Given the description of an element on the screen output the (x, y) to click on. 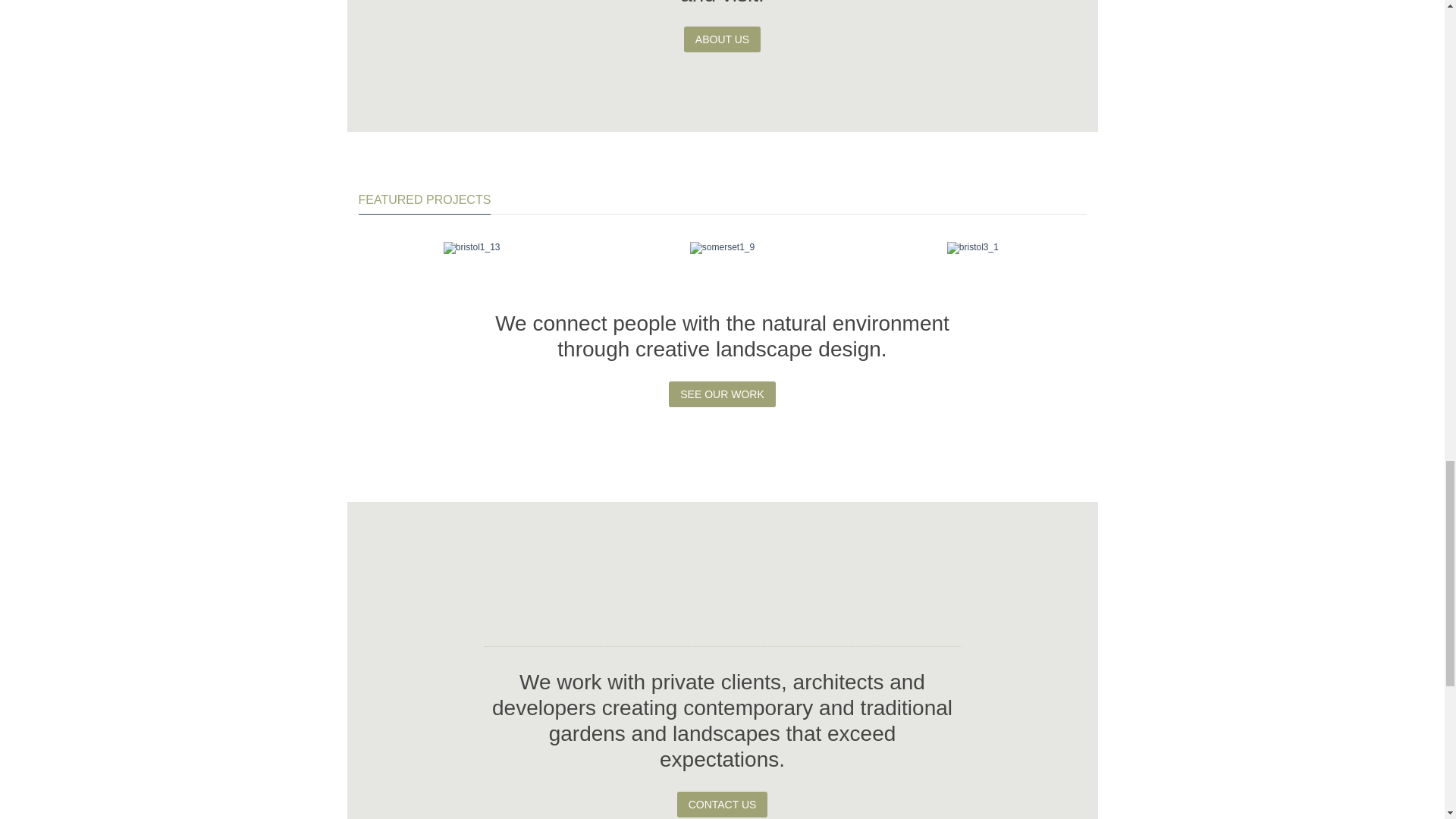
CONTACT US (722, 804)
ABOUT US (722, 39)
SEE OUR WORK (721, 394)
